Given the description of an element on the screen output the (x, y) to click on. 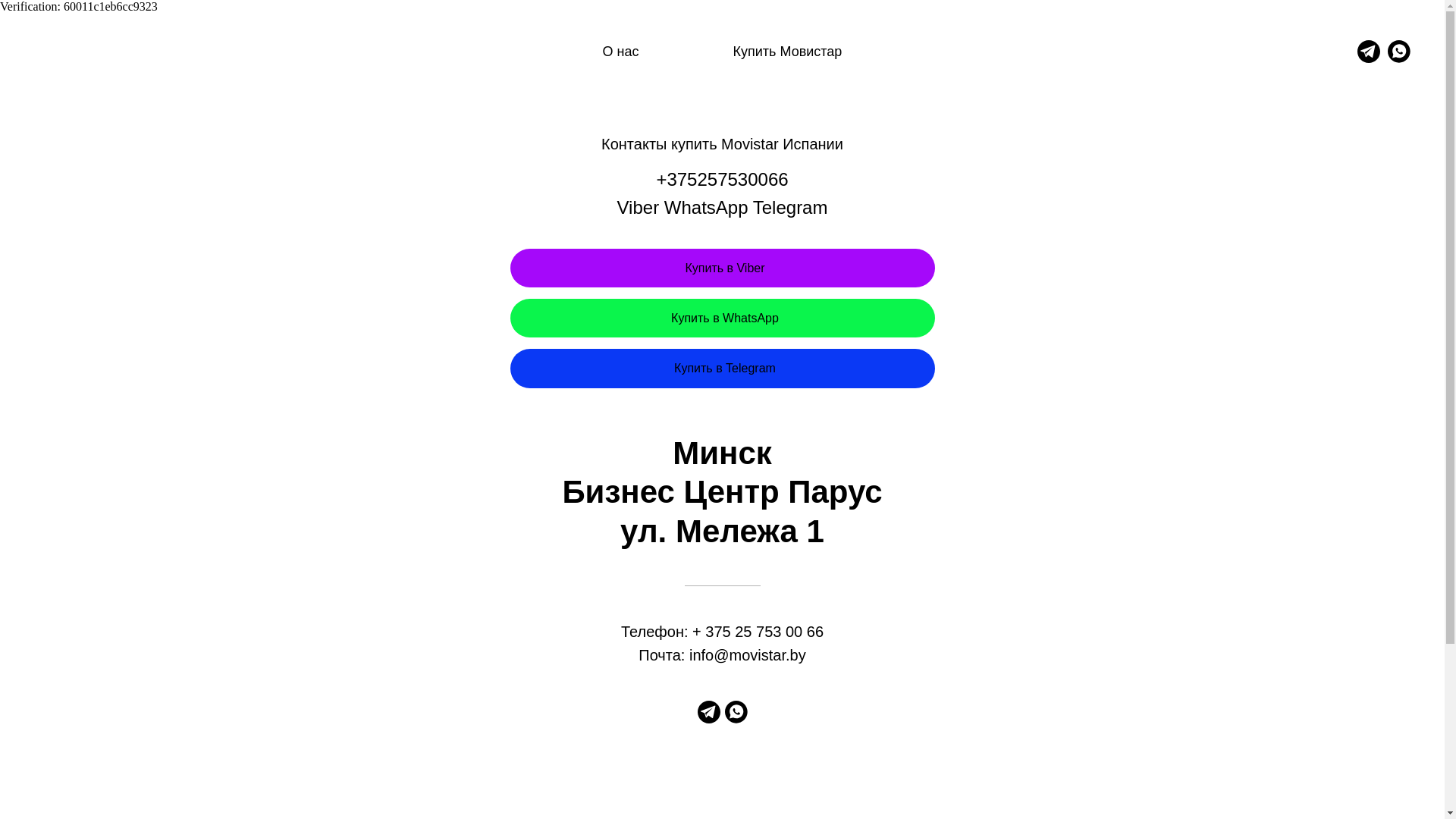
Viber Element type: text (638, 207)
Telegram Element type: text (790, 207)
WhatsApp Element type: text (706, 207)
Whatsapp Element type: text (735, 718)
Telegram Element type: text (708, 718)
Telegram Element type: text (1368, 51)
+375257530066 Element type: text (721, 179)
